Given the description of an element on the screen output the (x, y) to click on. 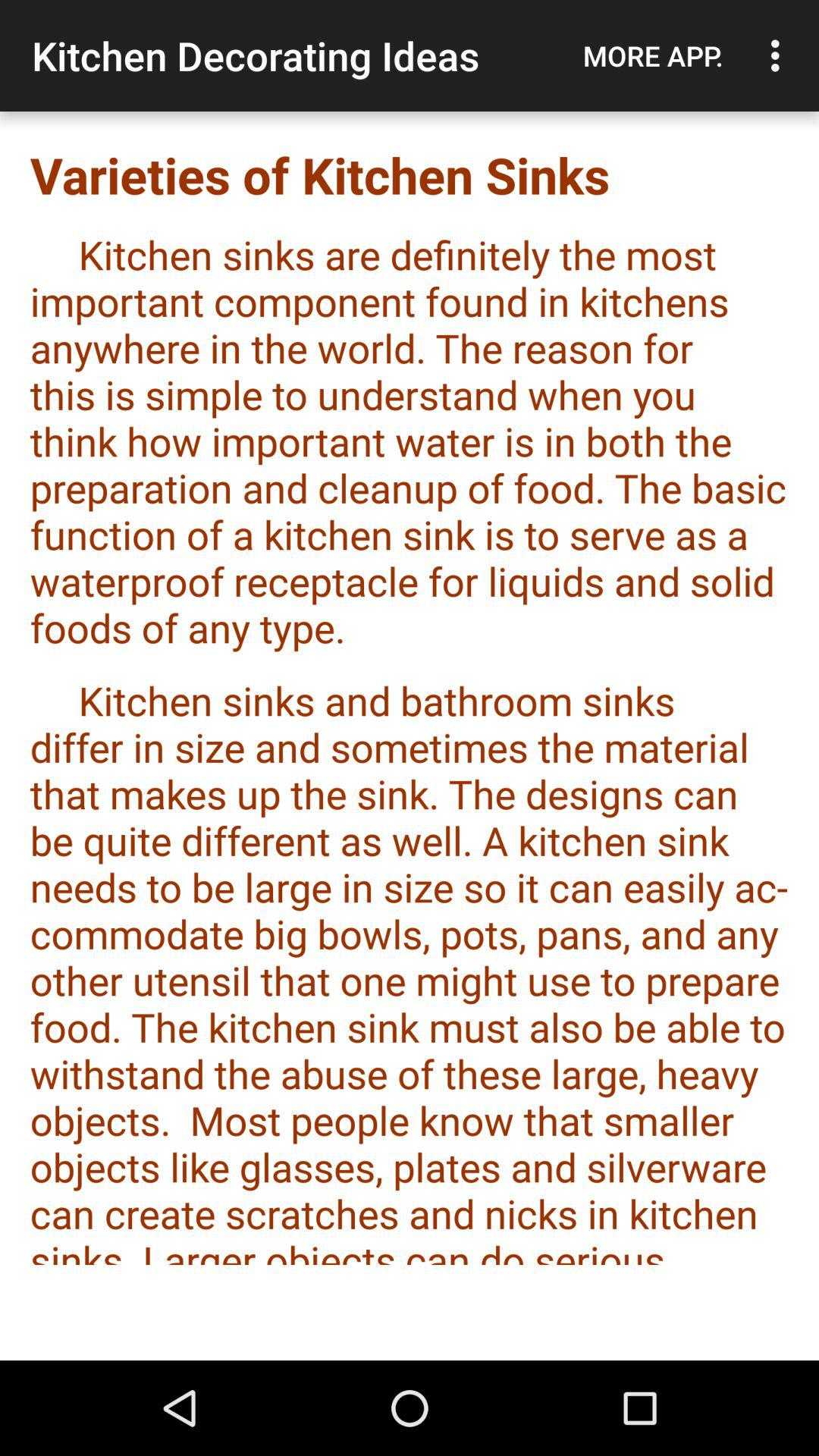
choose icon next to the kitchen decorating ideas icon (653, 55)
